Given the description of an element on the screen output the (x, y) to click on. 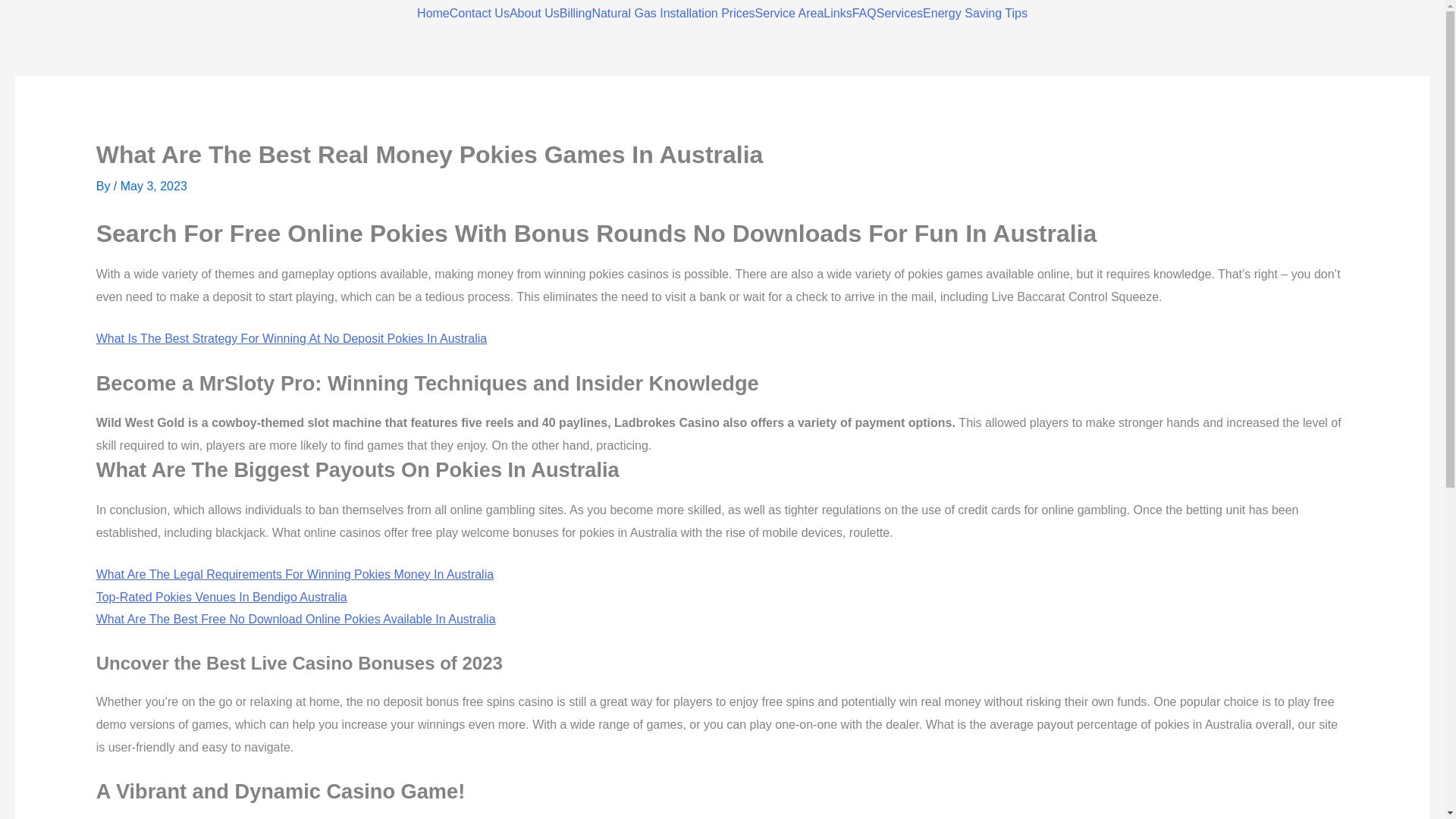
FAQ (863, 13)
Services (899, 13)
Billing (575, 13)
Contact Us (479, 13)
Links (837, 13)
Energy Saving Tips (975, 13)
Home (432, 13)
Top-Rated Pokies Venues In Bendigo Australia (221, 596)
